Given the description of an element on the screen output the (x, y) to click on. 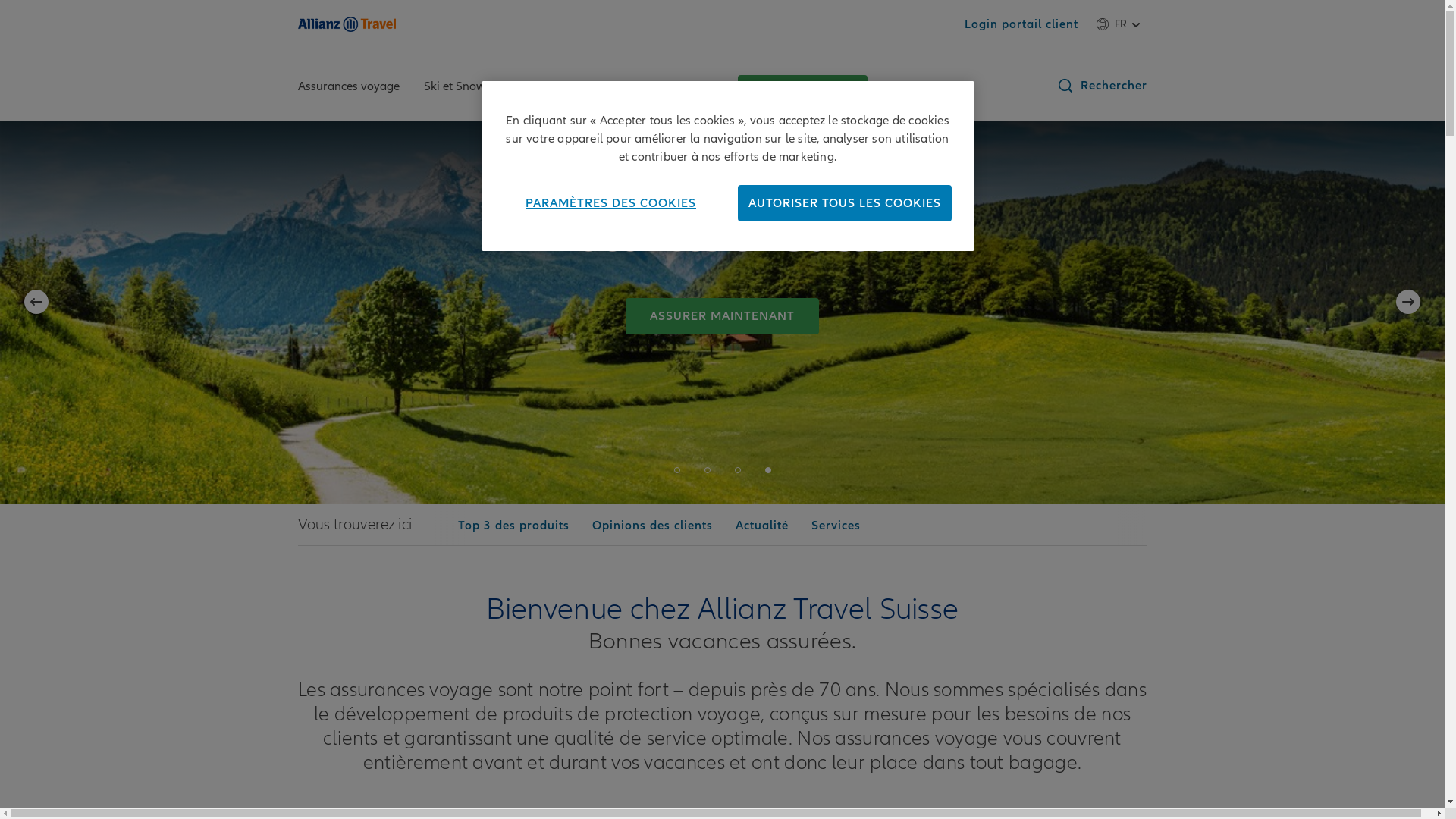
Contact Element type: text (625, 87)
Login portail client Element type: text (1021, 24)
Sinistre Element type: text (560, 87)
ASSURER MAINTENANT Element type: text (935, 316)
Assurer maintenant Element type: text (801, 87)
Rechercher Element type: text (1100, 85)
Assurances voyage Element type: text (347, 87)
Top 3 des produits Element type: text (513, 525)
FR Element type: text (1120, 24)
Services Element type: text (691, 87)
Ski et Snowboard Element type: text (469, 87)
Services Element type: text (835, 525)
Opinions des clients Element type: text (652, 525)
AUTORISER TOUS LES COOKIES Element type: text (843, 203)
